Given the description of an element on the screen output the (x, y) to click on. 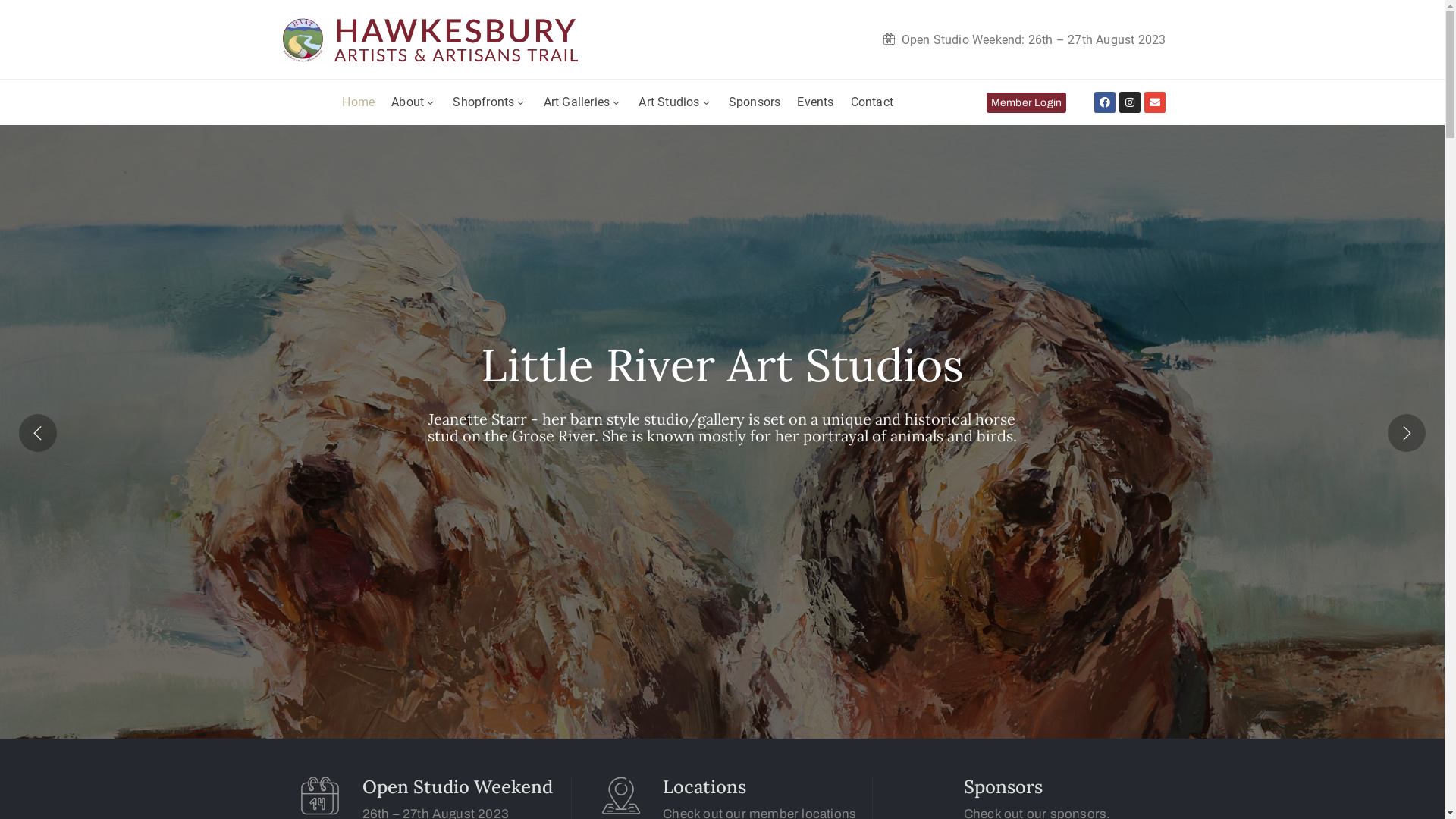
Contact Element type: text (871, 101)
Events Element type: text (815, 101)
Shopfronts Element type: text (489, 102)
Sponsors Element type: text (754, 101)
About Element type: text (413, 102)
Member Login Element type: text (1026, 102)
Art Galleries Element type: text (582, 102)
Home Element type: text (358, 101)
Art Studios Element type: text (674, 102)
